Given the description of an element on the screen output the (x, y) to click on. 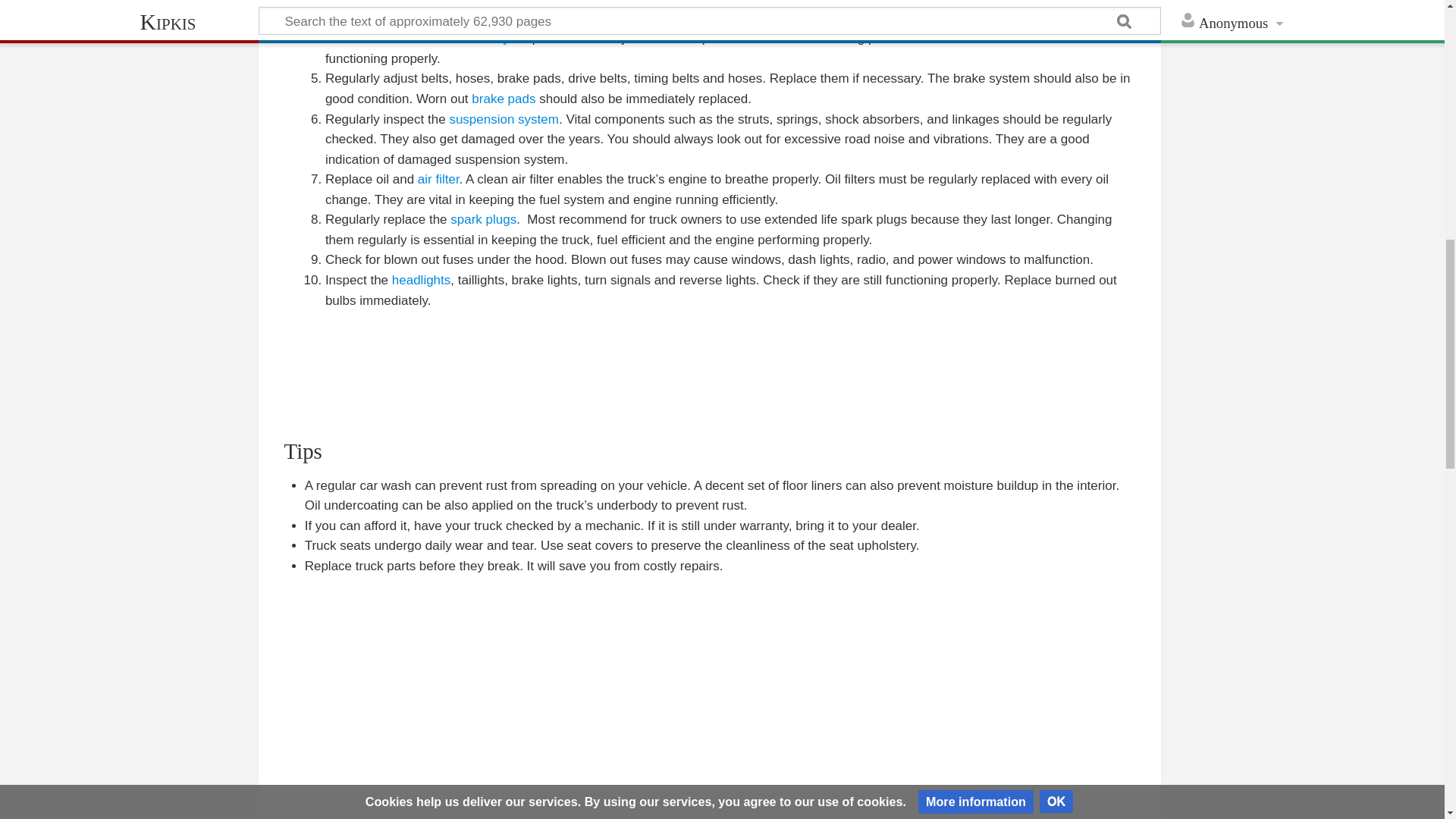
Inspect Your Suspension System (503, 119)
headlights (421, 279)
Check an Alternator (414, 38)
suspension system (503, 119)
brake pads (503, 98)
battery (489, 38)
spark plugs (482, 219)
air filter (438, 178)
Change The Brake Pads in Your Car (503, 98)
alternator (414, 38)
Change a Car Battery (489, 38)
